Given the description of an element on the screen output the (x, y) to click on. 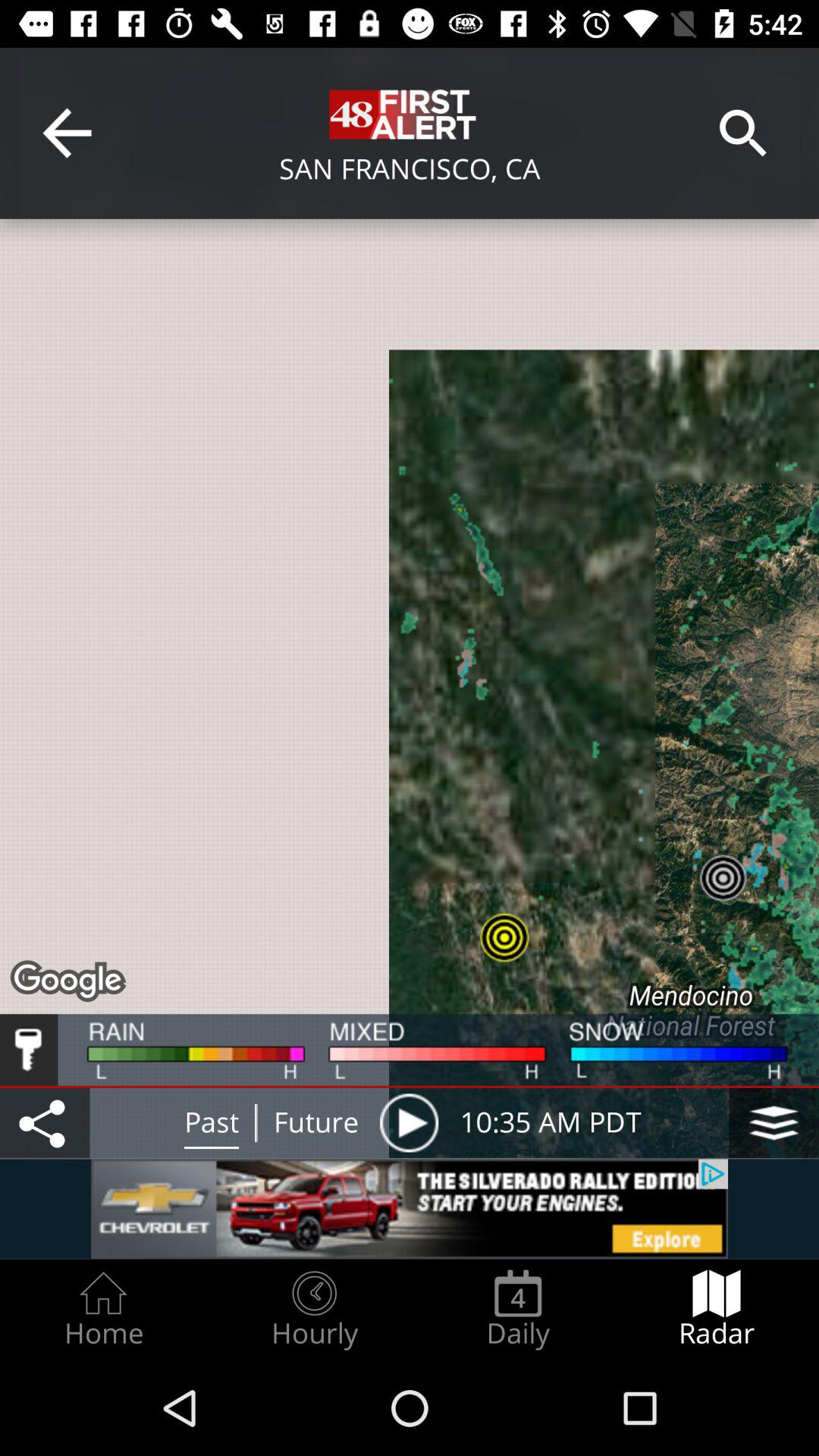
click the radio button next to the radar (518, 1309)
